Given the description of an element on the screen output the (x, y) to click on. 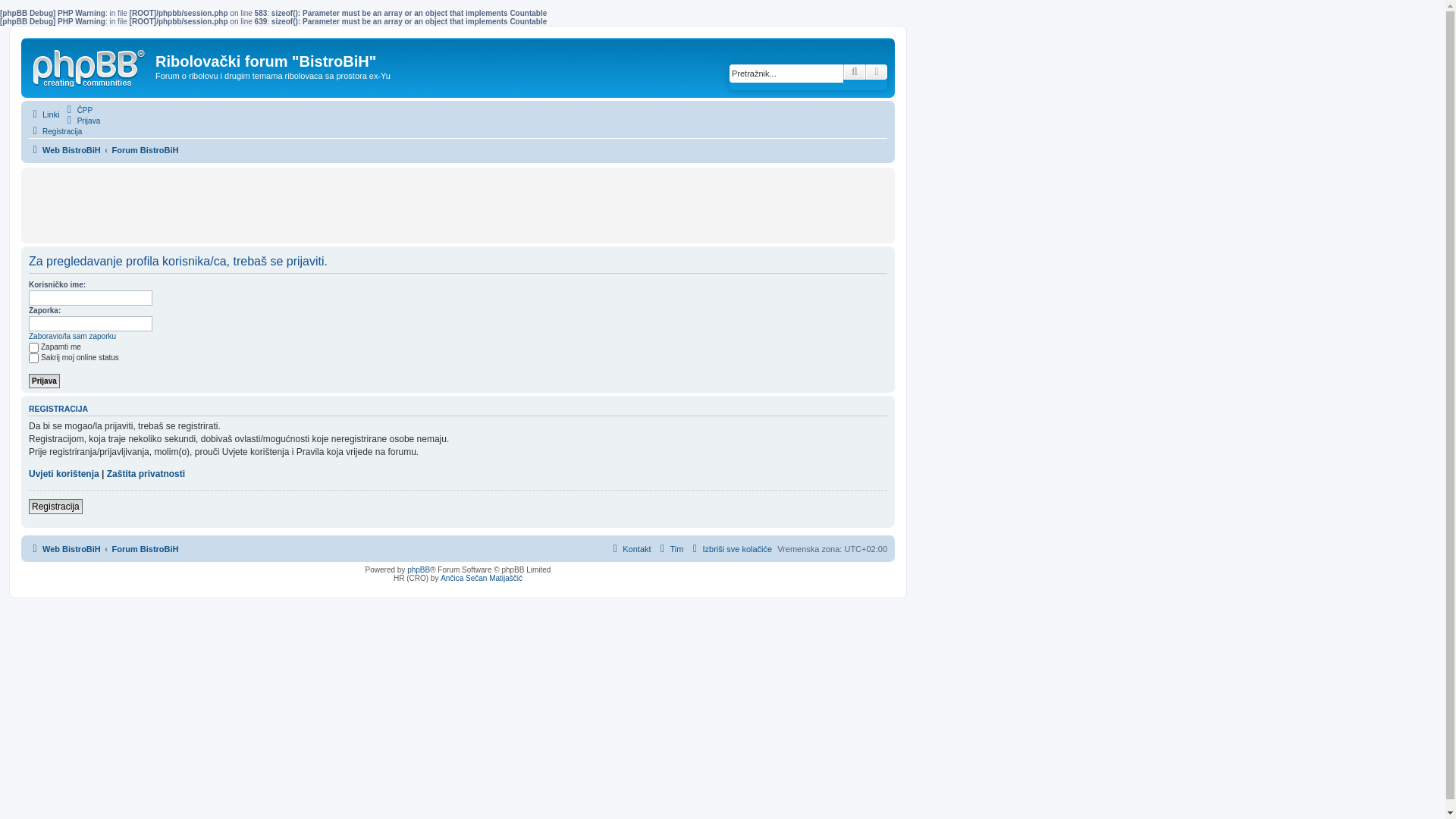
Prijava Element type: text (43, 380)
Tim Element type: text (670, 548)
Registracija Element type: text (54, 130)
Registracija Element type: text (55, 506)
Linki Element type: text (43, 114)
Kontakt Element type: text (629, 548)
Forum BistroBiH Element type: text (144, 548)
Web BistroBiH Element type: hover (90, 64)
Prijava Element type: text (81, 120)
Zaboravio/la sam zaporku Element type: text (72, 336)
Forum BistroBiH Element type: text (144, 150)
Web BistroBiH Element type: text (64, 150)
Web BistroBiH Element type: text (64, 548)
Advertisement Element type: hover (458, 205)
phpBB Element type: text (418, 569)
